Given the description of an element on the screen output the (x, y) to click on. 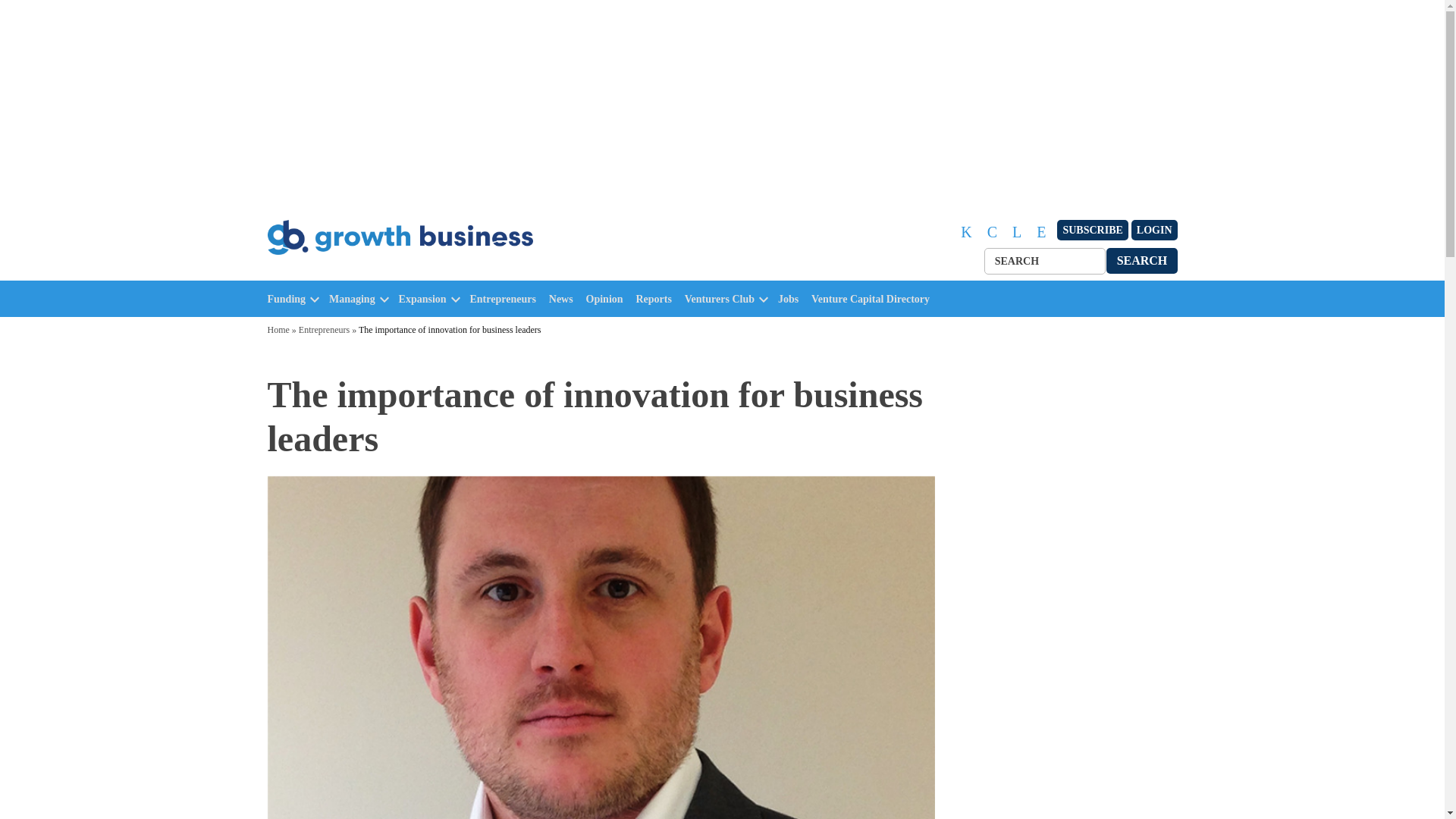
SEARCH (1142, 260)
3rd party ad content (1062, 596)
News (564, 298)
Entrepreneurs (506, 298)
Managing (352, 298)
Funding (285, 298)
Reports (656, 298)
3rd party ad content (195, 596)
Expansion (422, 298)
Growth Business (332, 271)
Opinion (608, 298)
3rd party ad content (1249, 596)
SUBSCRIBE (1091, 230)
LOGIN (1154, 230)
